Given the description of an element on the screen output the (x, y) to click on. 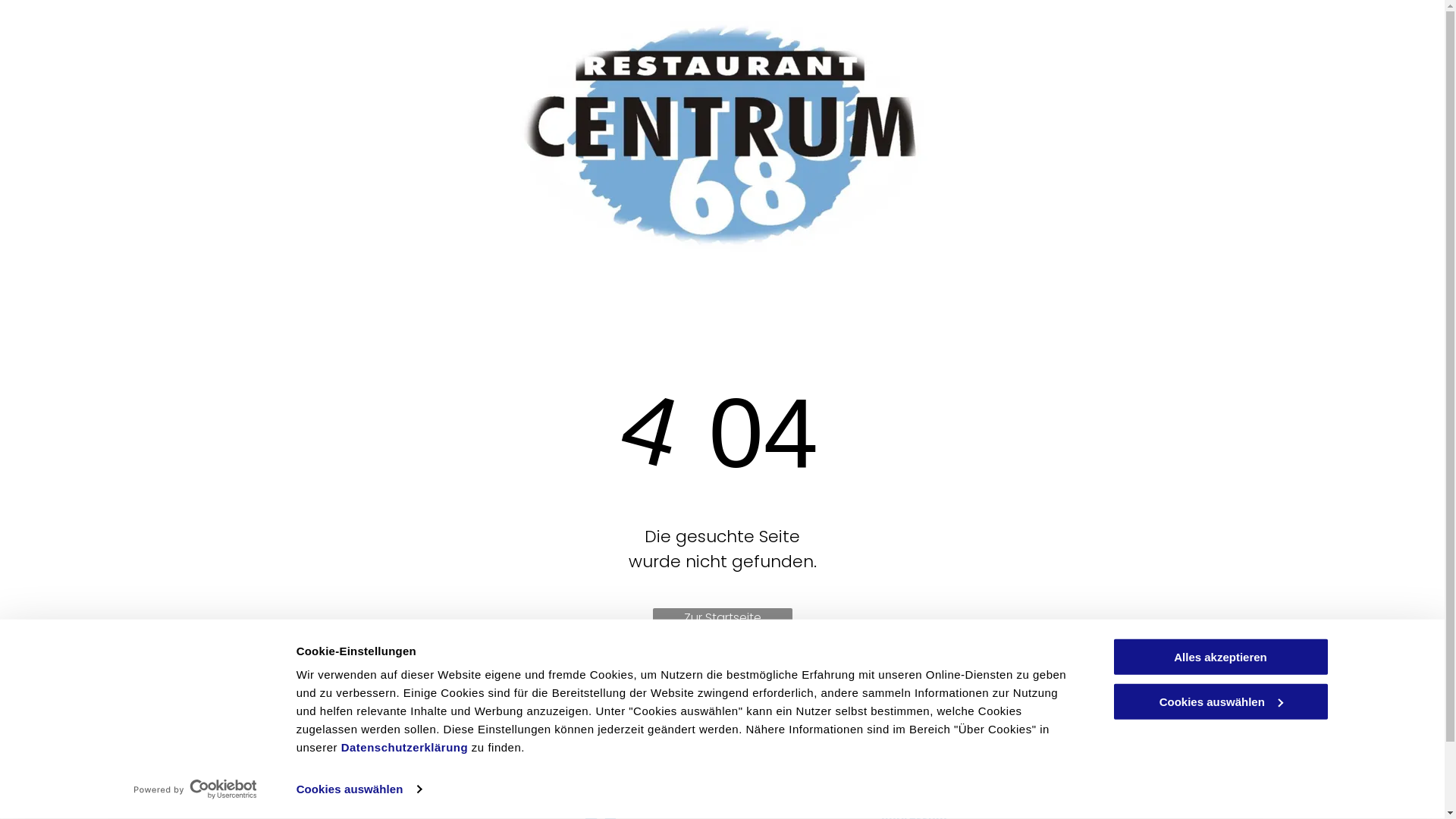
Zur Startseite Element type: text (721, 622)
centrum_68@bluewin.ch Element type: text (672, 787)
Alles akzeptieren Element type: text (1219, 656)
056 424 39 40 Element type: text (641, 729)
